Given the description of an element on the screen output the (x, y) to click on. 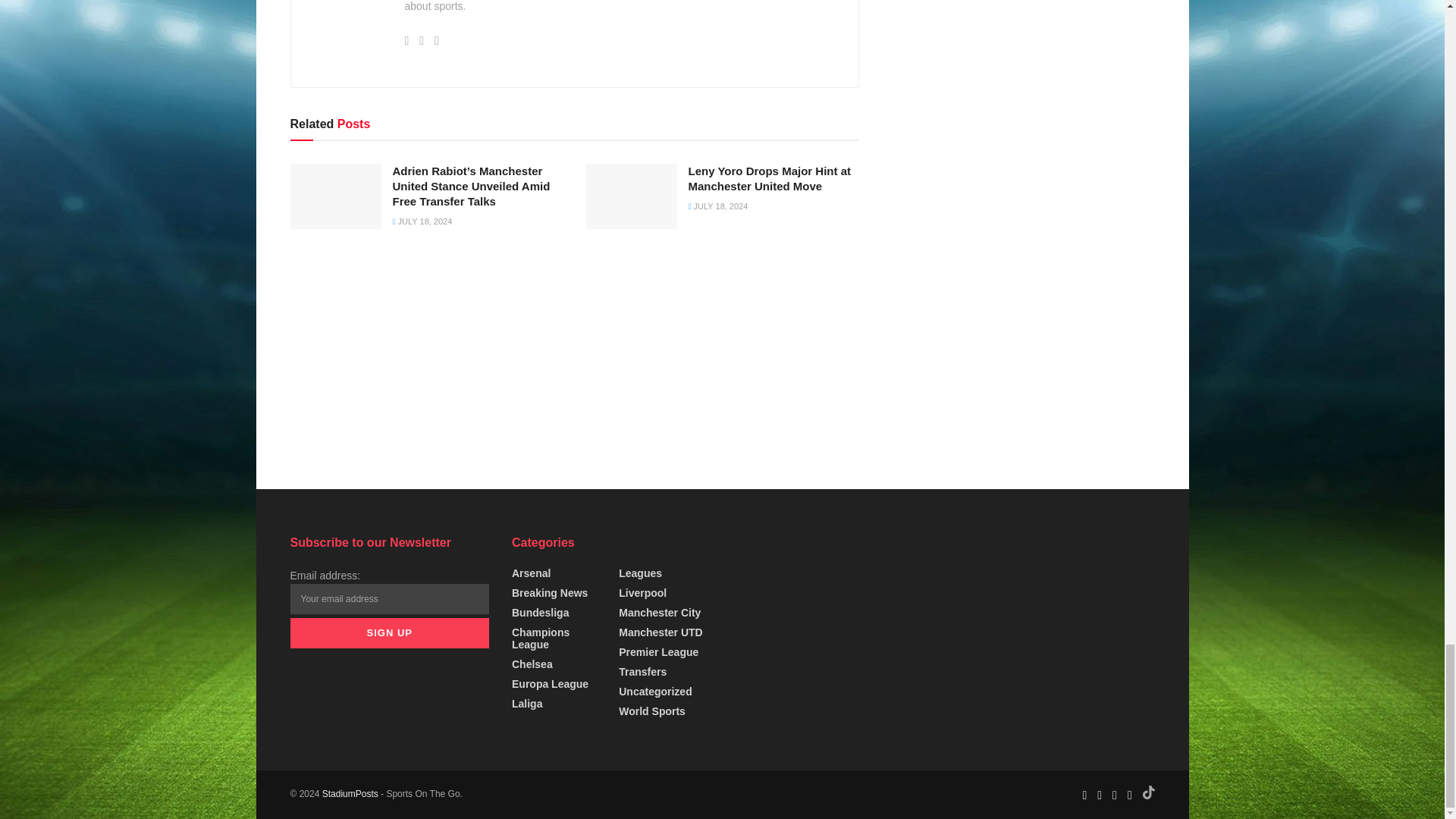
Sign up (389, 633)
